Given the description of an element on the screen output the (x, y) to click on. 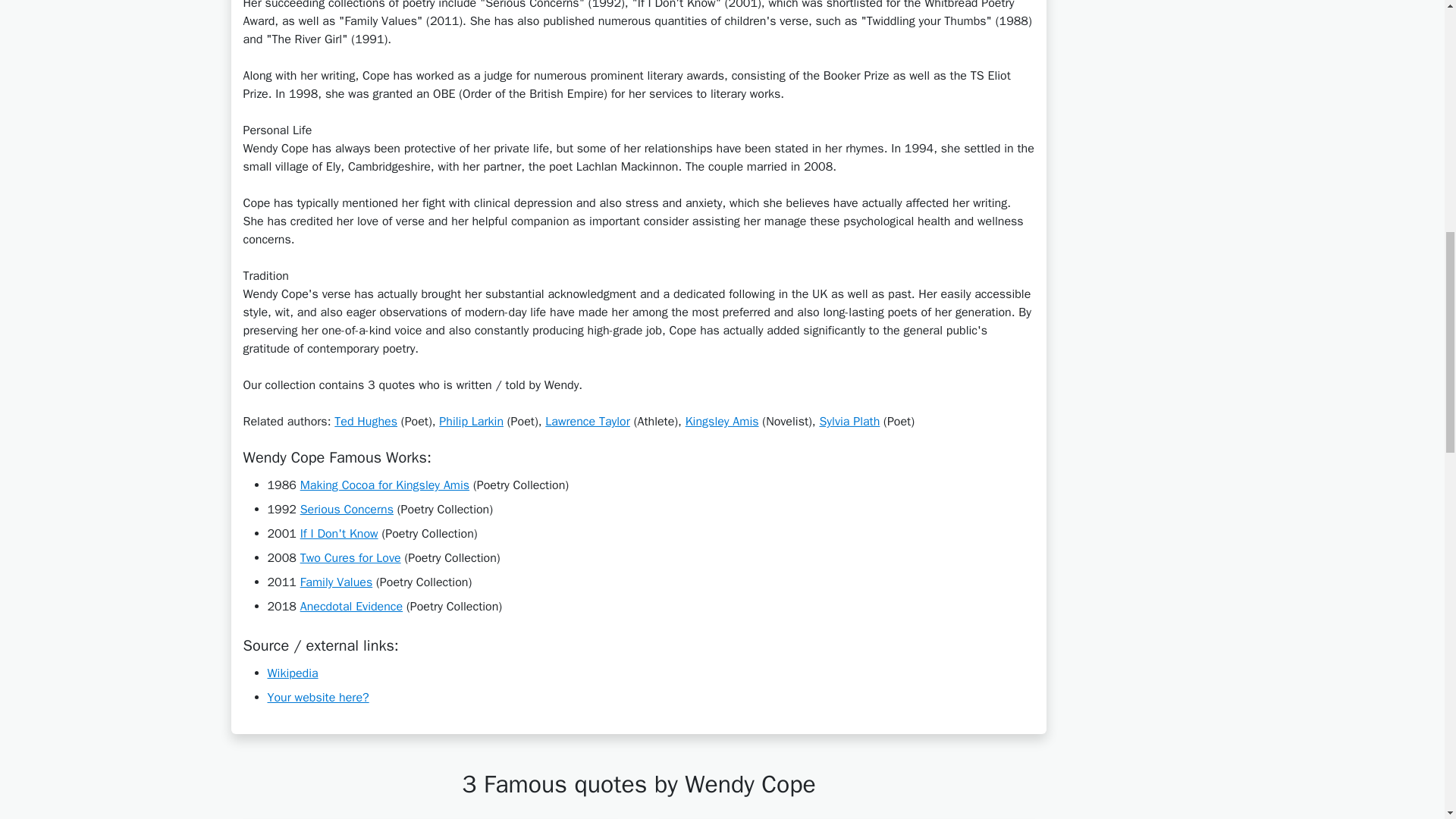
If I Don't Know (338, 533)
Family Values (335, 581)
Your website here? (317, 697)
Lawrence Taylor (587, 421)
Wikipedia (291, 672)
Two Cures for Love (350, 557)
Ted Hughes (365, 421)
Sylvia Plath (848, 421)
Anecdotal Evidence (351, 606)
Serious Concerns (346, 509)
Making Cocoa for Kingsley Amis (383, 485)
Philip Larkin (471, 421)
Kingsley Amis (721, 421)
